Given the description of an element on the screen output the (x, y) to click on. 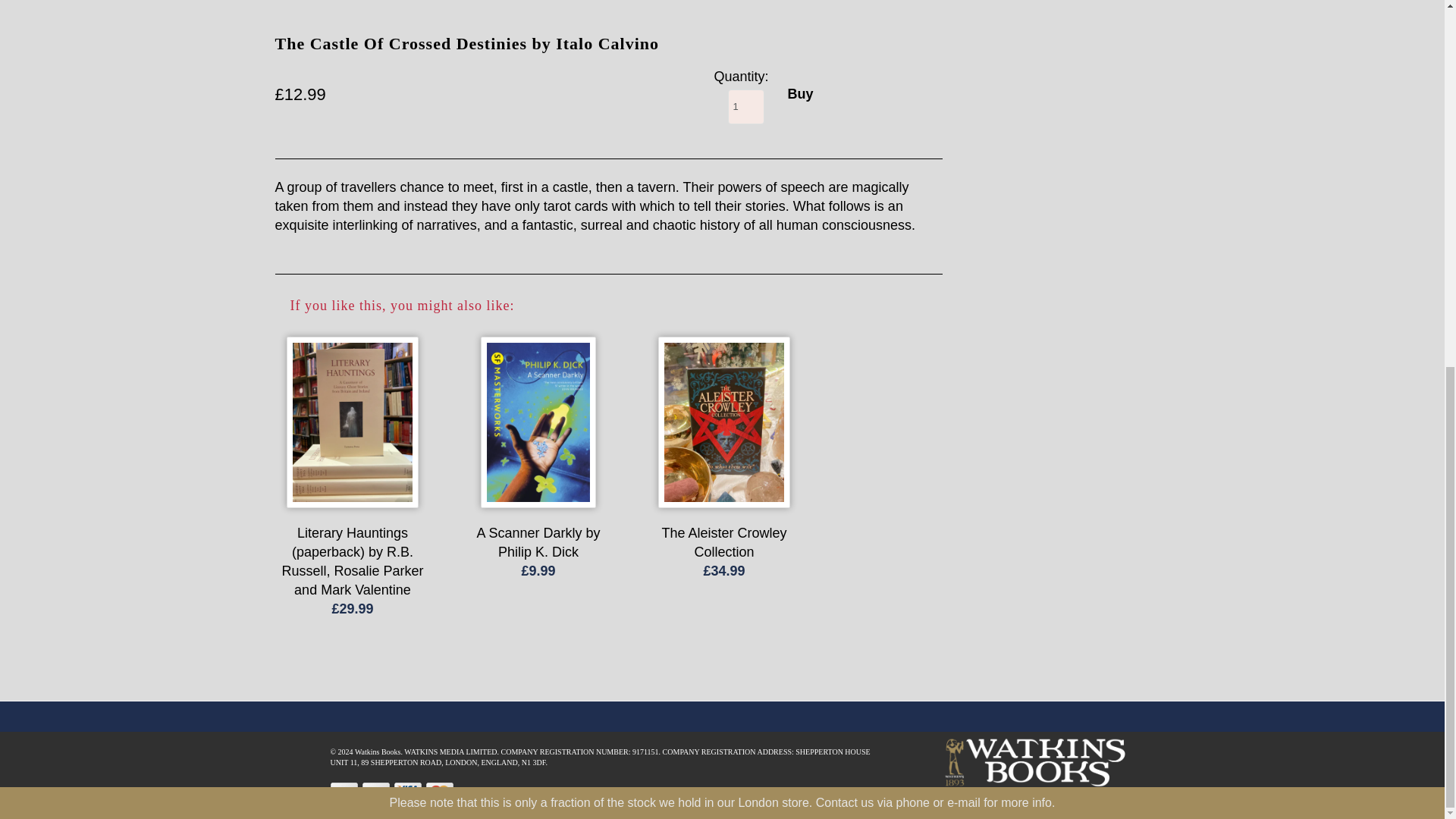
Buy (799, 93)
The Castle Of Crossed Destinies by Italo Calvino (137, 59)
The Castle Of Crossed Destinies by Italo Calvino (466, 59)
1 (746, 106)
Fiction (294, 1)
Buy (799, 93)
Fiction (294, 1)
